Given the description of an element on the screen output the (x, y) to click on. 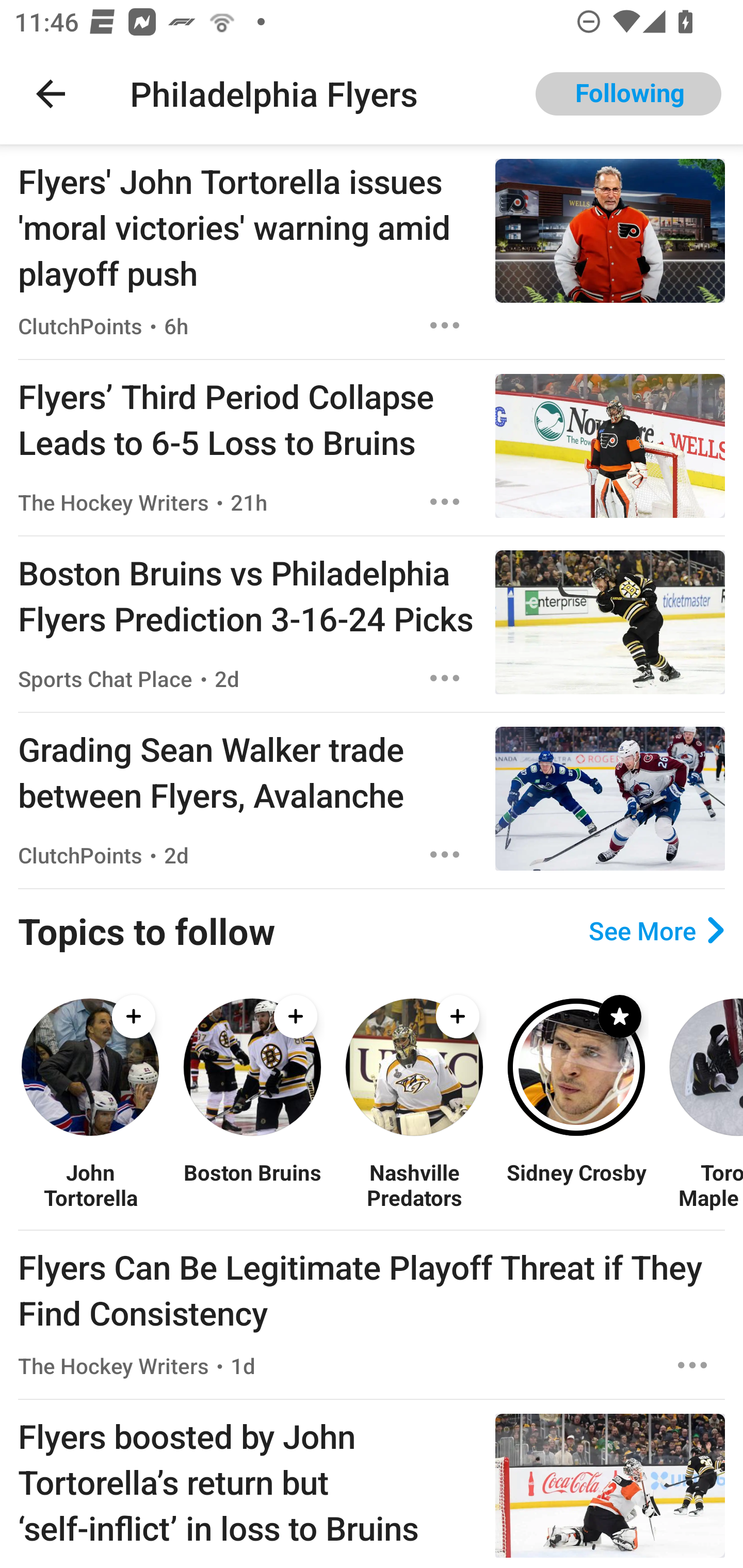
Navigate up (50, 93)
Following (628, 94)
Options (444, 325)
Options (444, 501)
Options (444, 677)
Options (444, 854)
See More (656, 930)
John Tortorella (89, 1184)
Boston Bruins (251, 1184)
Nashville Predators (413, 1184)
Sidney Crosby (575, 1184)
Options (692, 1365)
